Given the description of an element on the screen output the (x, y) to click on. 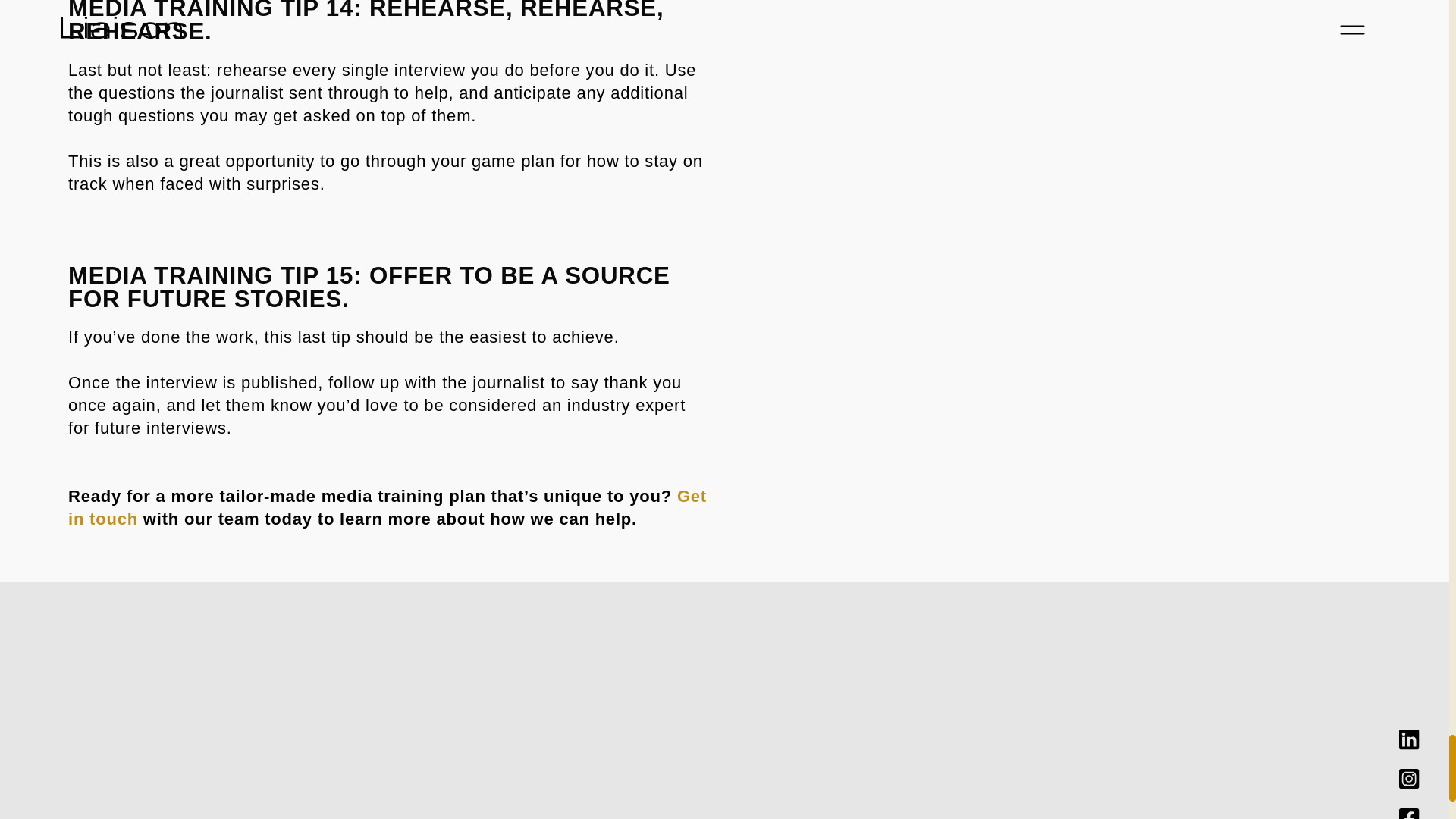
Get in touch (387, 507)
